Given the description of an element on the screen output the (x, y) to click on. 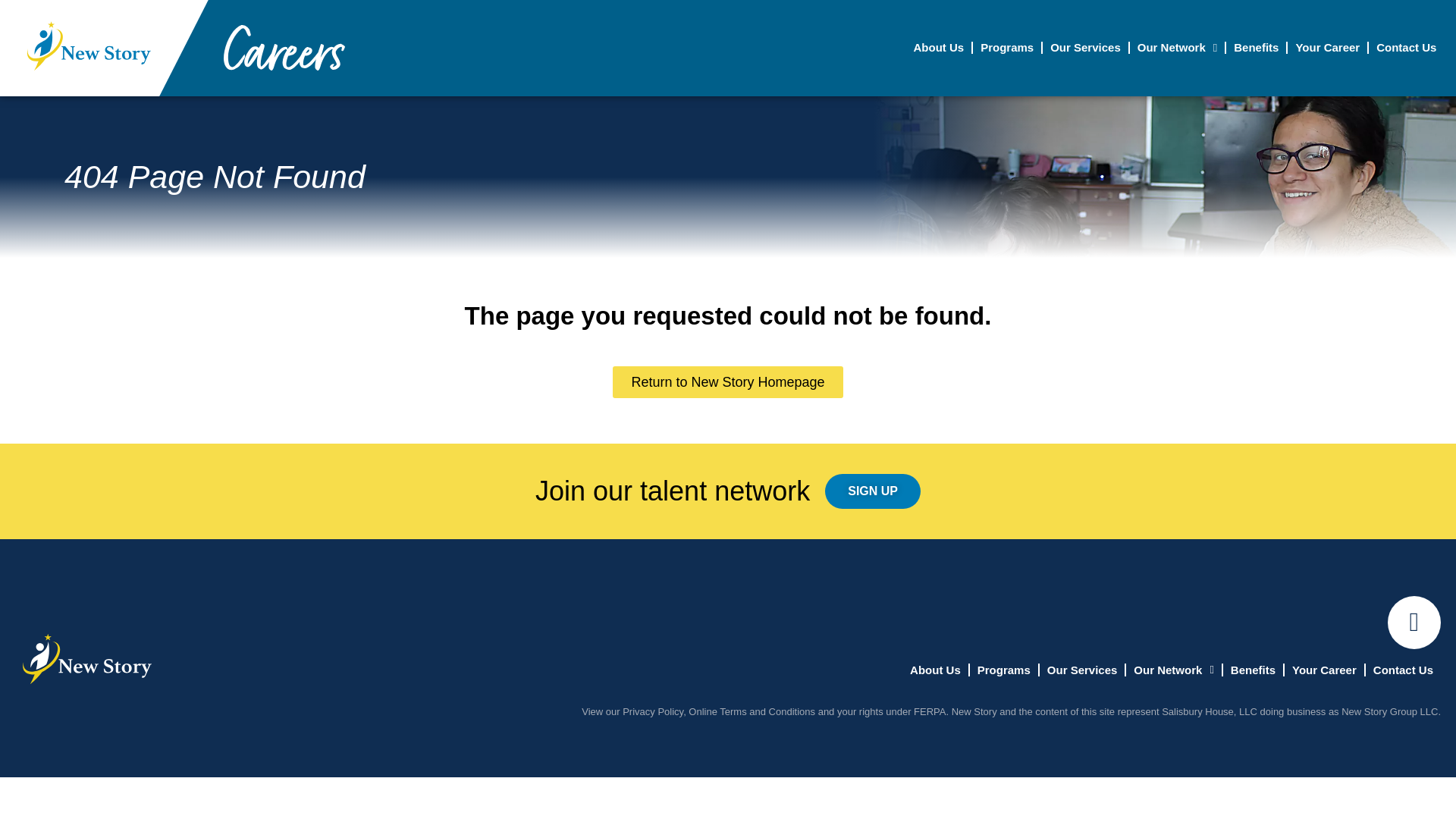
Our Network (1177, 47)
About Us (938, 47)
Benefits (1255, 47)
Your Career (1327, 47)
Contact Us (1406, 47)
Programs (1006, 47)
Our Services (1085, 47)
